Given the description of an element on the screen output the (x, y) to click on. 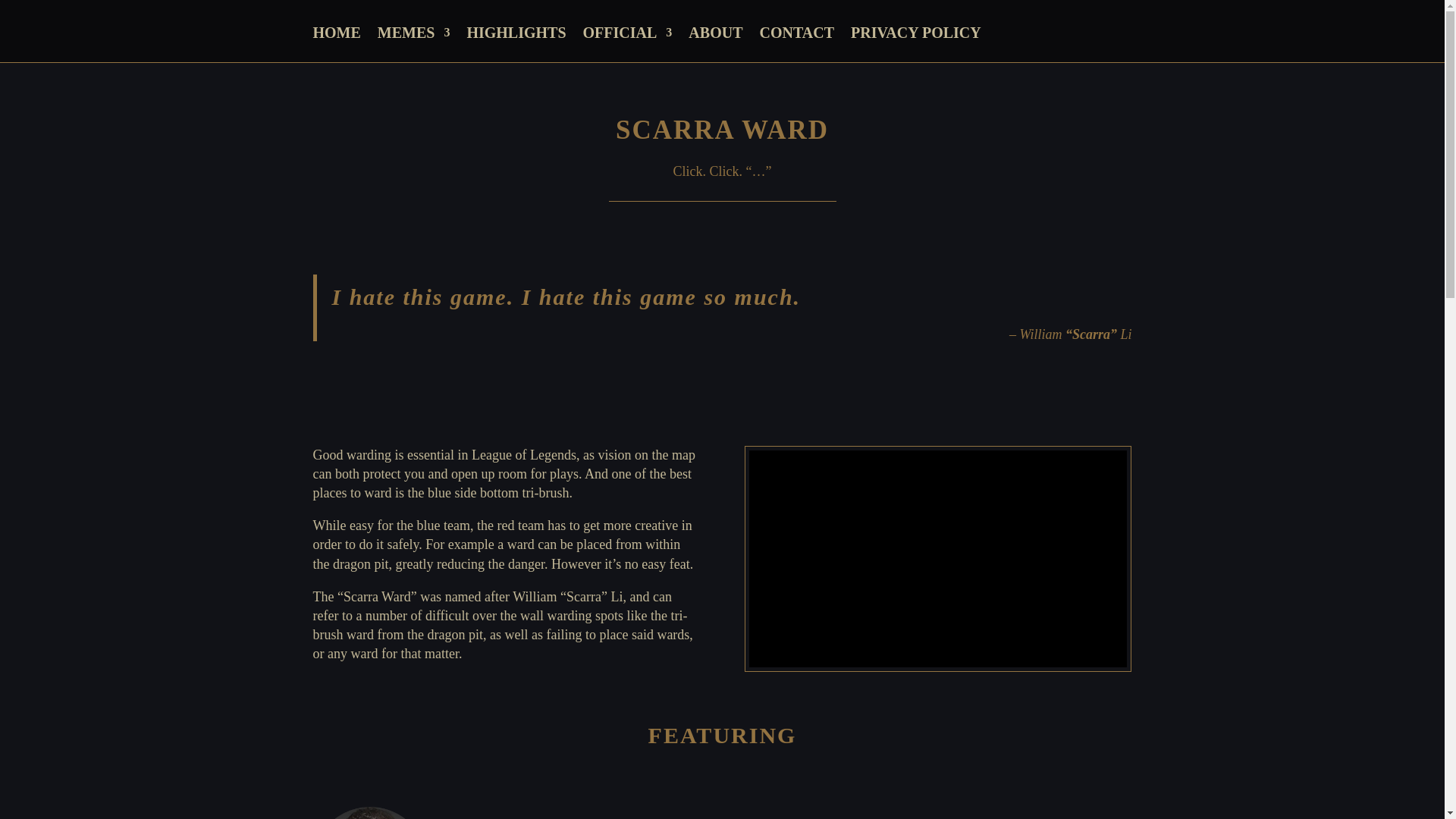
HOME (336, 43)
MEMES (413, 43)
CONTACT (796, 43)
HIGHLIGHTS (515, 43)
PRIVACY POLICY (915, 43)
ABOUT (715, 43)
OFFICIAL (627, 43)
